Given the description of an element on the screen output the (x, y) to click on. 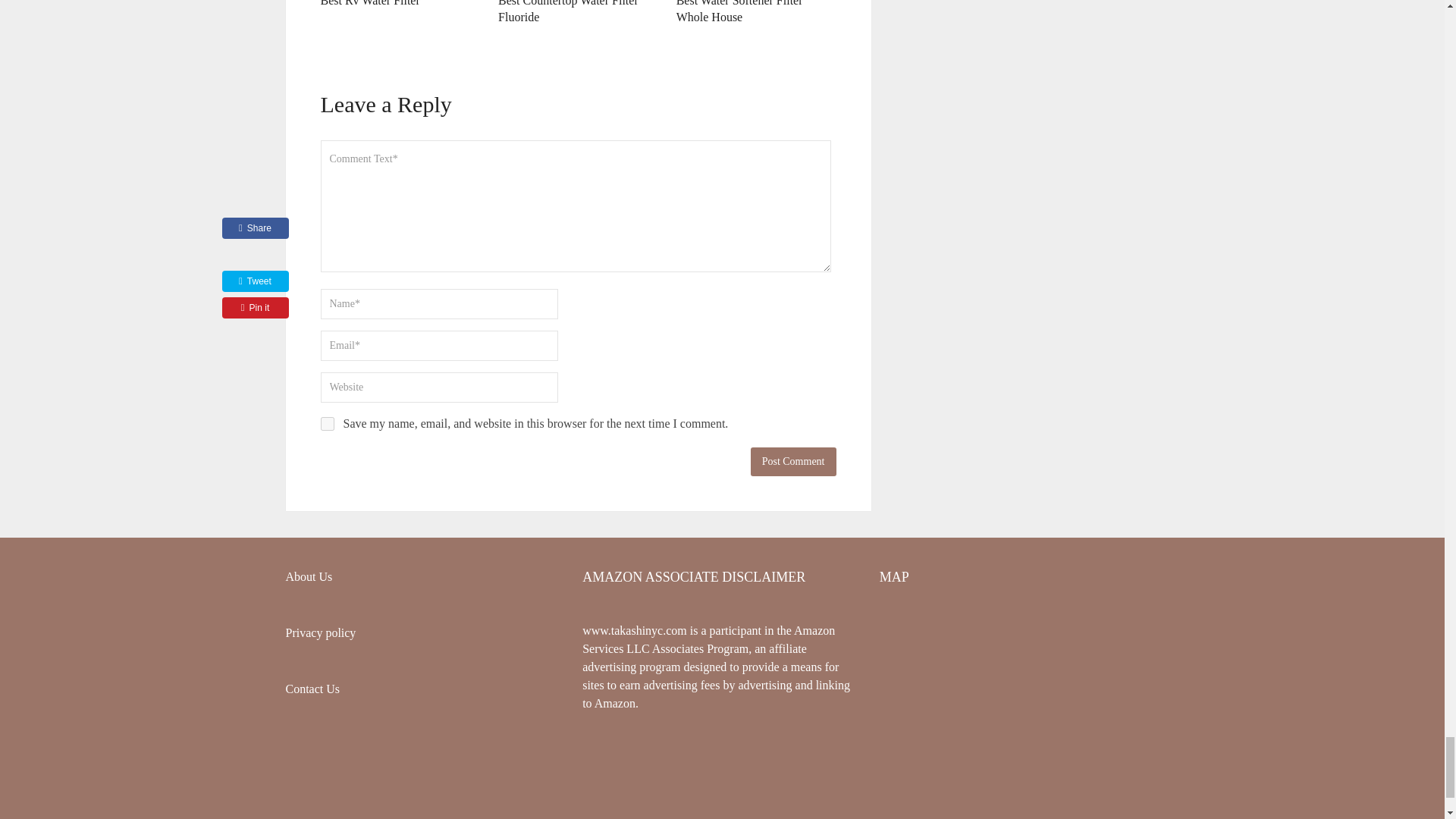
yes (326, 423)
Post Comment (793, 461)
